Given the description of an element on the screen output the (x, y) to click on. 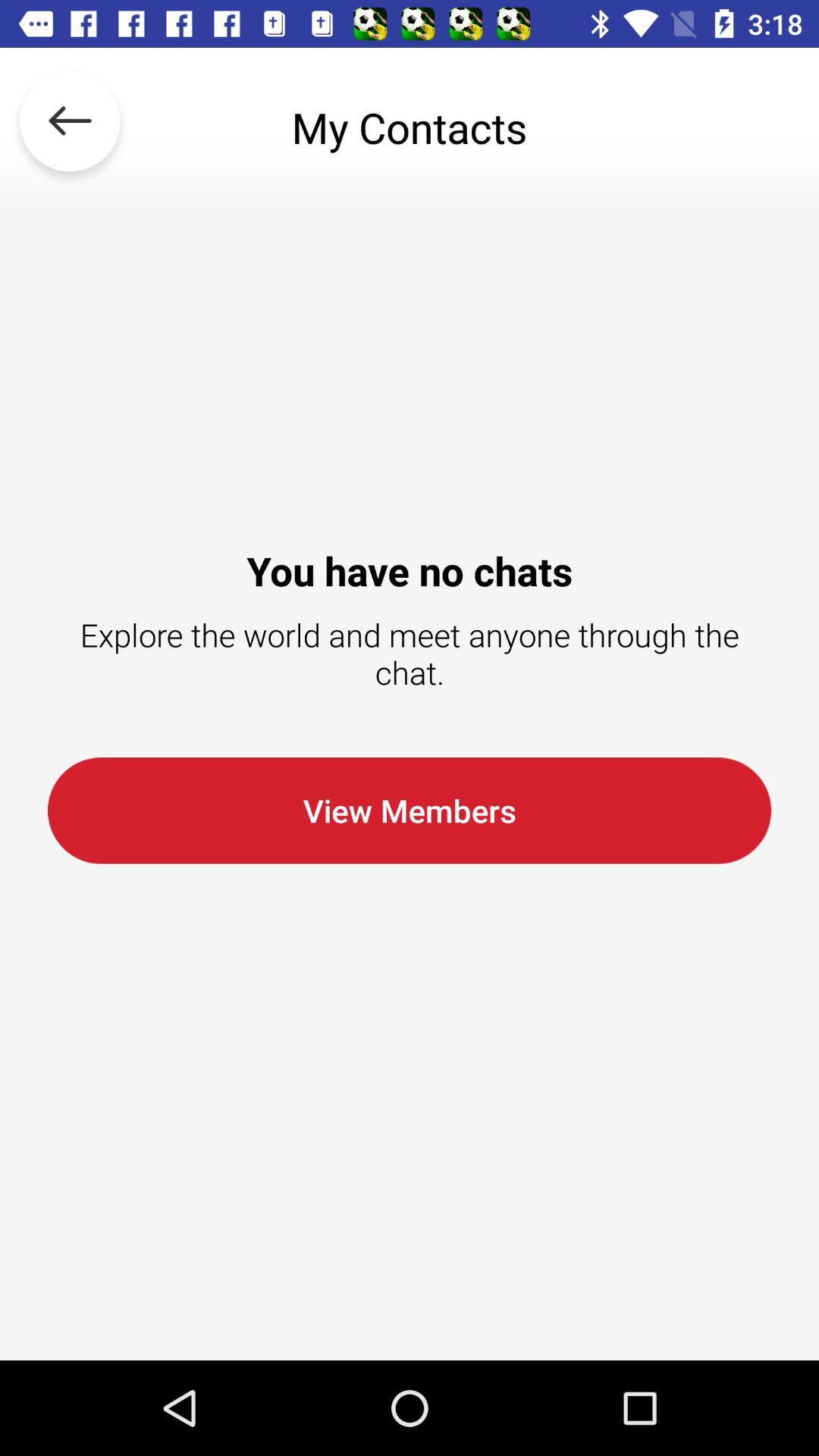
launch view members item (409, 810)
